Given the description of an element on the screen output the (x, y) to click on. 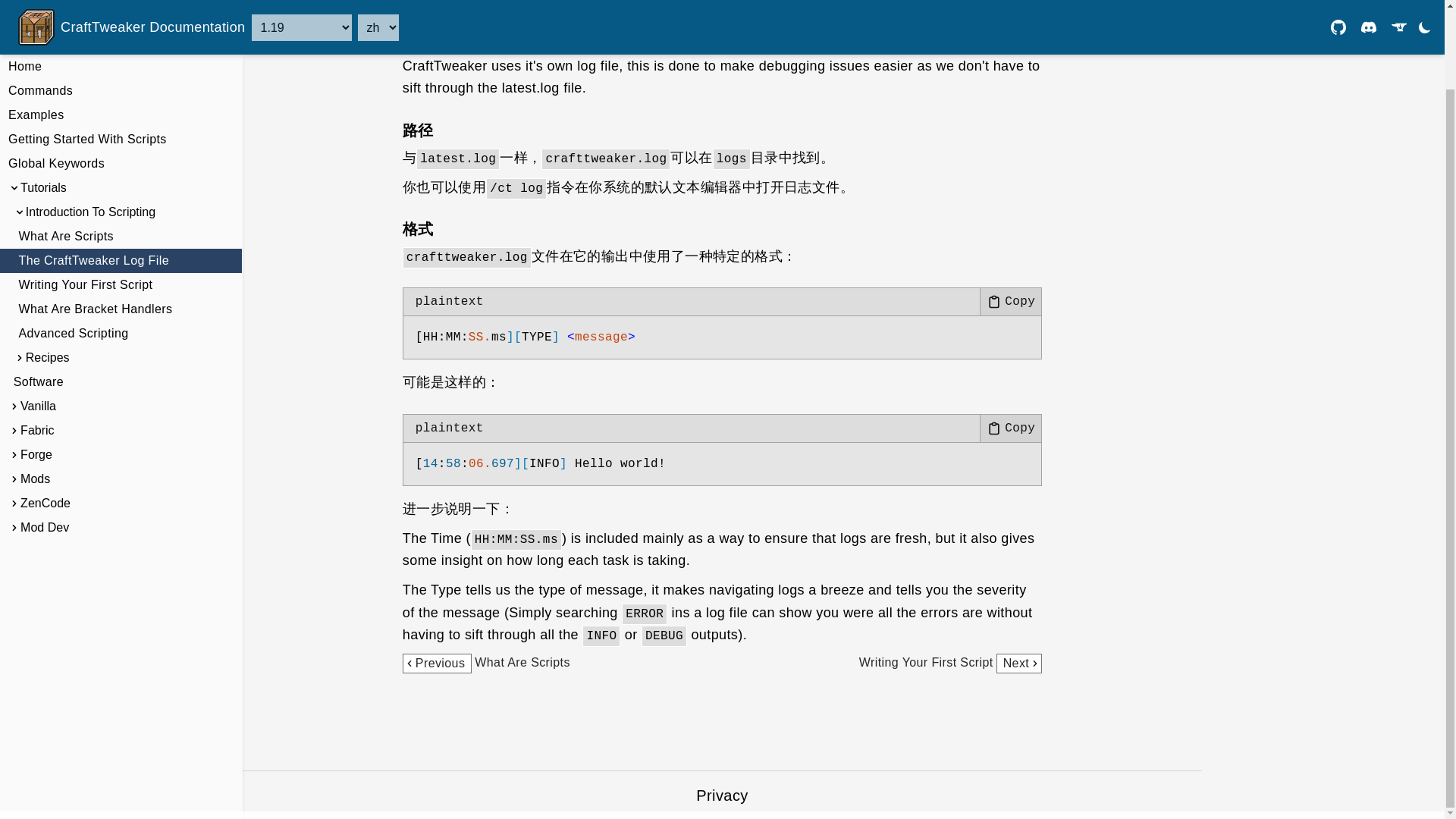
Privacy (721, 794)
Introduction To Scripting (950, 663)
Writing Your First Script (120, 123)
The CraftTweaker Log File (486, 663)
Fabric (120, 196)
ZenCode (120, 171)
Examples (120, 341)
What Are Scripts (120, 414)
